Given the description of an element on the screen output the (x, y) to click on. 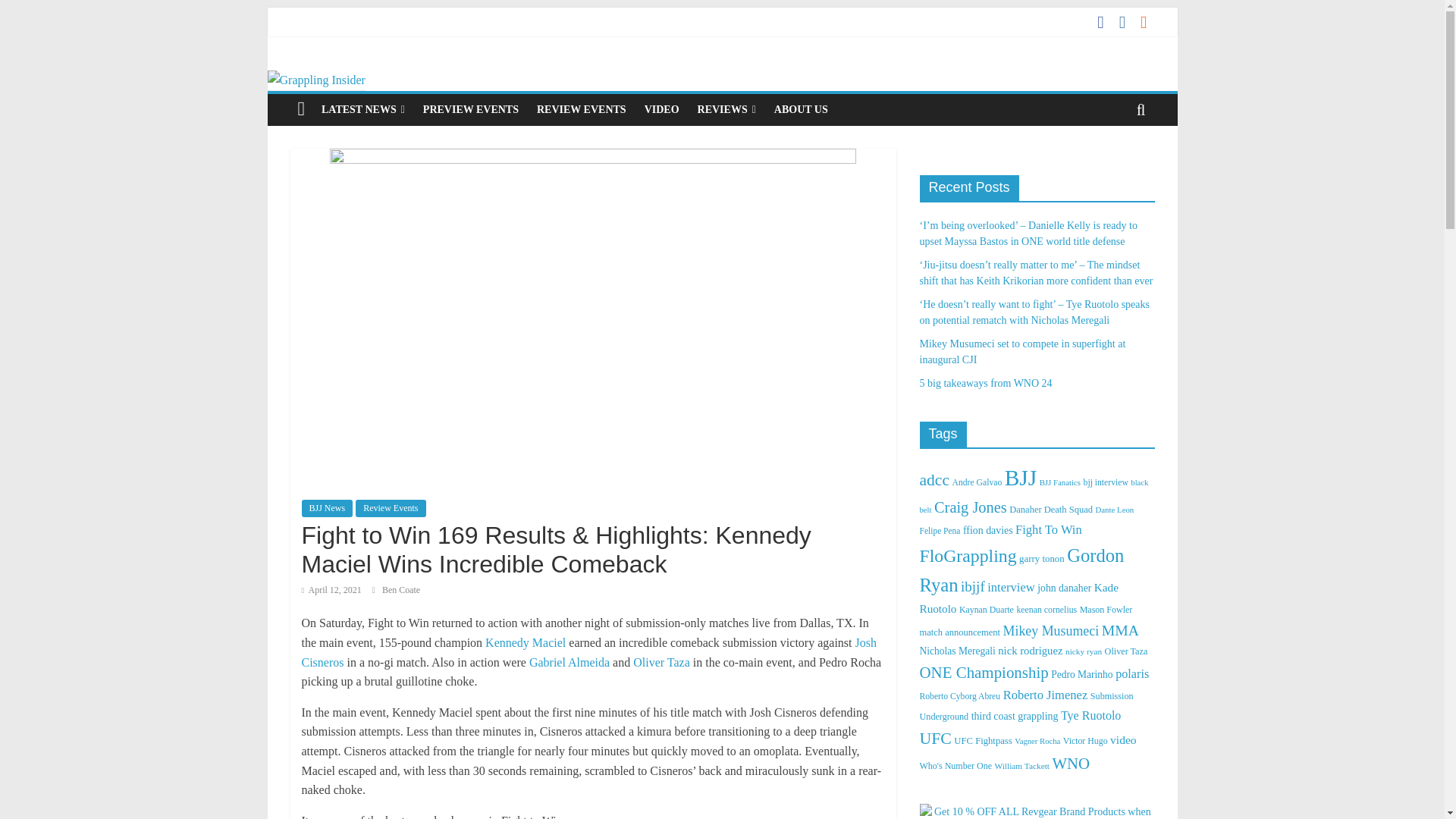
Oliver Taza (663, 662)
VIDEO (661, 110)
ABOUT US (801, 110)
REVIEWS (726, 110)
PREVIEW EVENTS (470, 110)
Grappling Insider (315, 79)
April 12, 2021 (331, 589)
Ben Coate (400, 589)
REVIEW EVENTS (580, 110)
Kennedy Maciel (525, 642)
Ben Coate (400, 589)
Josh Cisneros (588, 652)
BJJ News (327, 507)
Gabriel Almeida (569, 662)
